Given the description of an element on the screen output the (x, y) to click on. 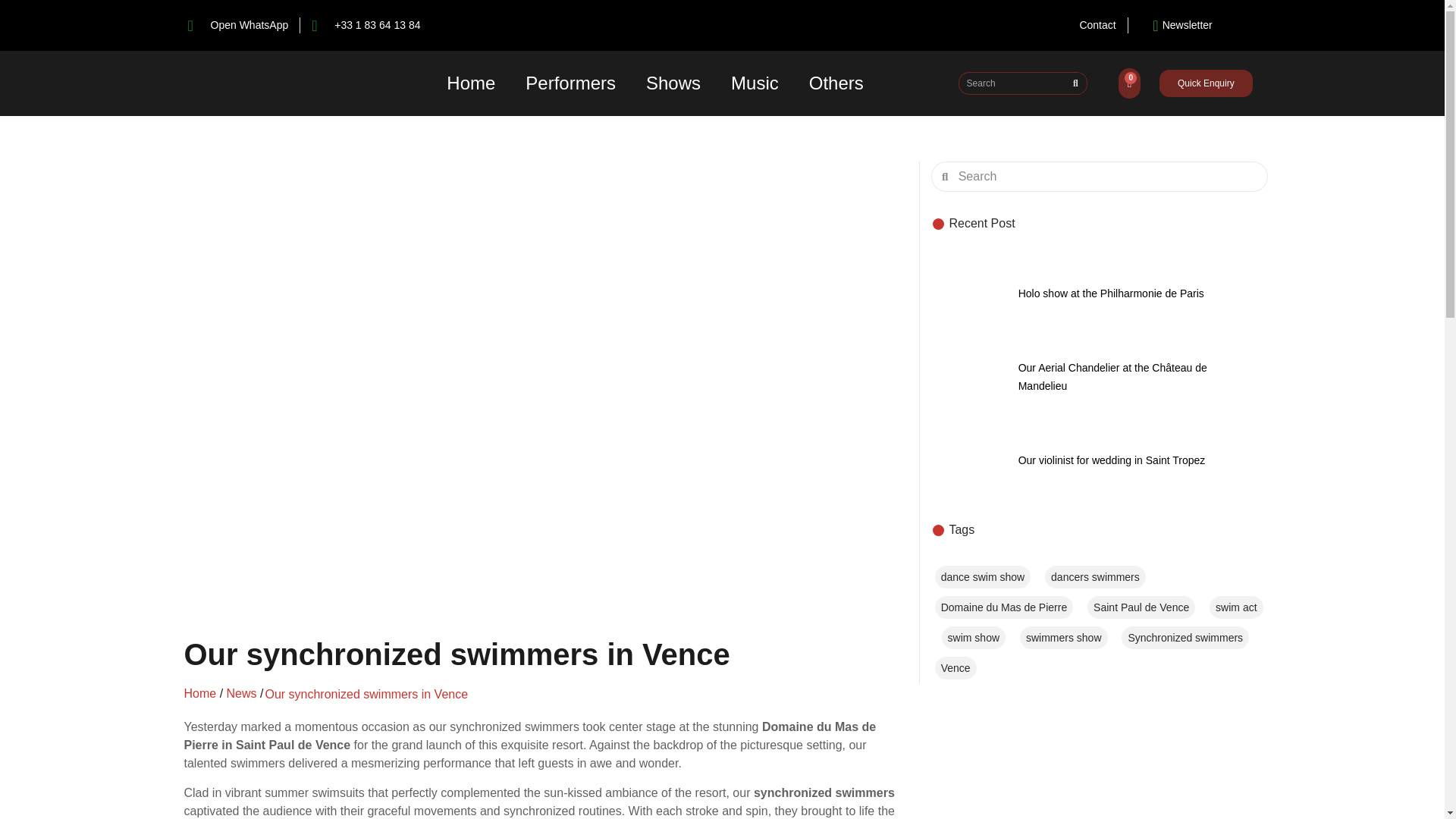
Contact (1096, 25)
Newsletter (1176, 25)
Holo show at the Philharmonie de Paris (969, 293)
Open WhatsApp (237, 25)
Home (470, 83)
Our violinist for wedding in Saint Tropez (1111, 460)
Performers (570, 83)
Holo show at the Philharmonie de Paris (1110, 293)
Our violinist for wedding in Saint Tropez (969, 459)
